Given the description of an element on the screen output the (x, y) to click on. 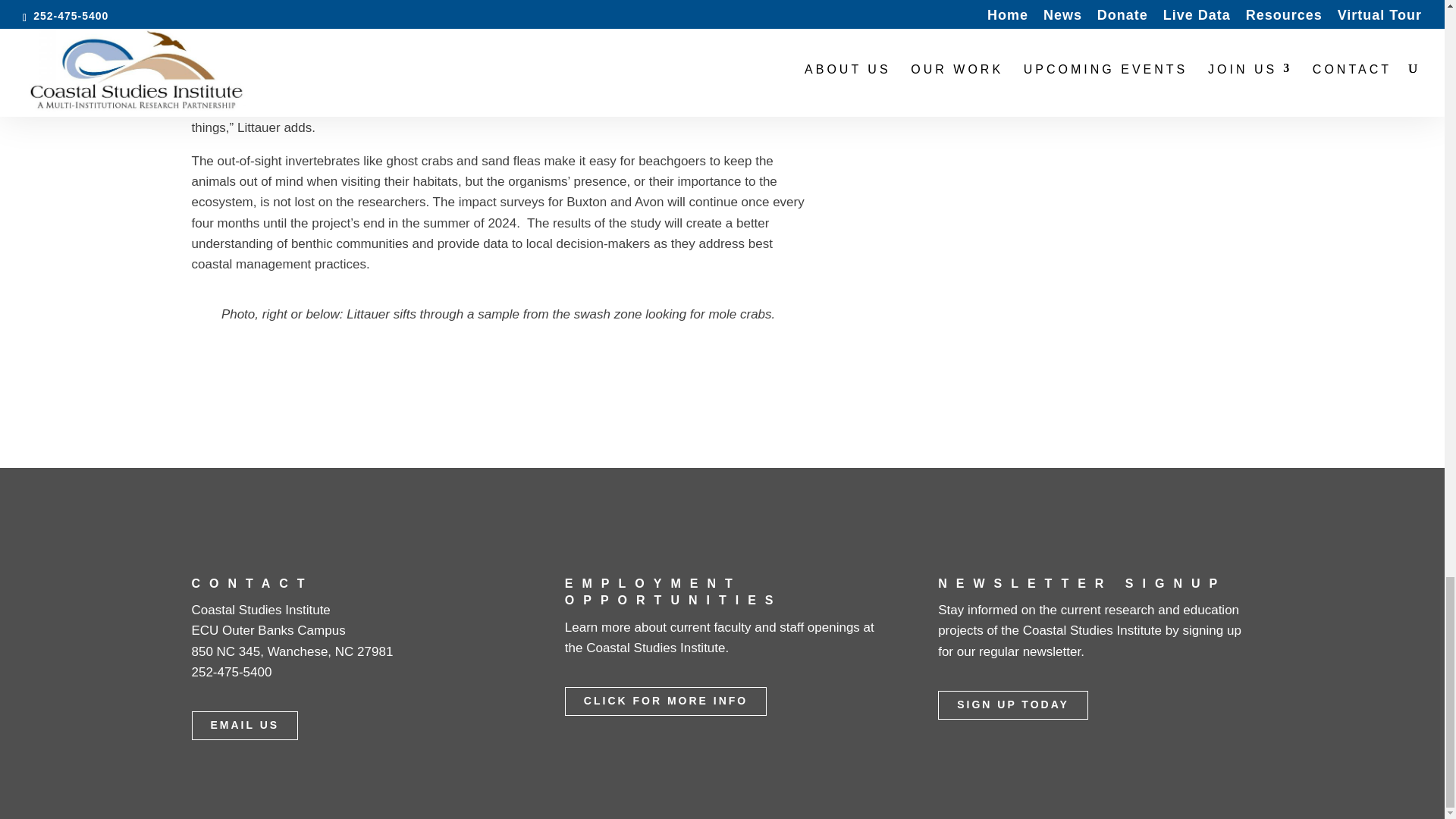
SIGN UP TODAY (1012, 705)
-- (1058, 166)
EMAIL US (244, 725)
CLICK FOR MORE INFO (665, 701)
